Given the description of an element on the screen output the (x, y) to click on. 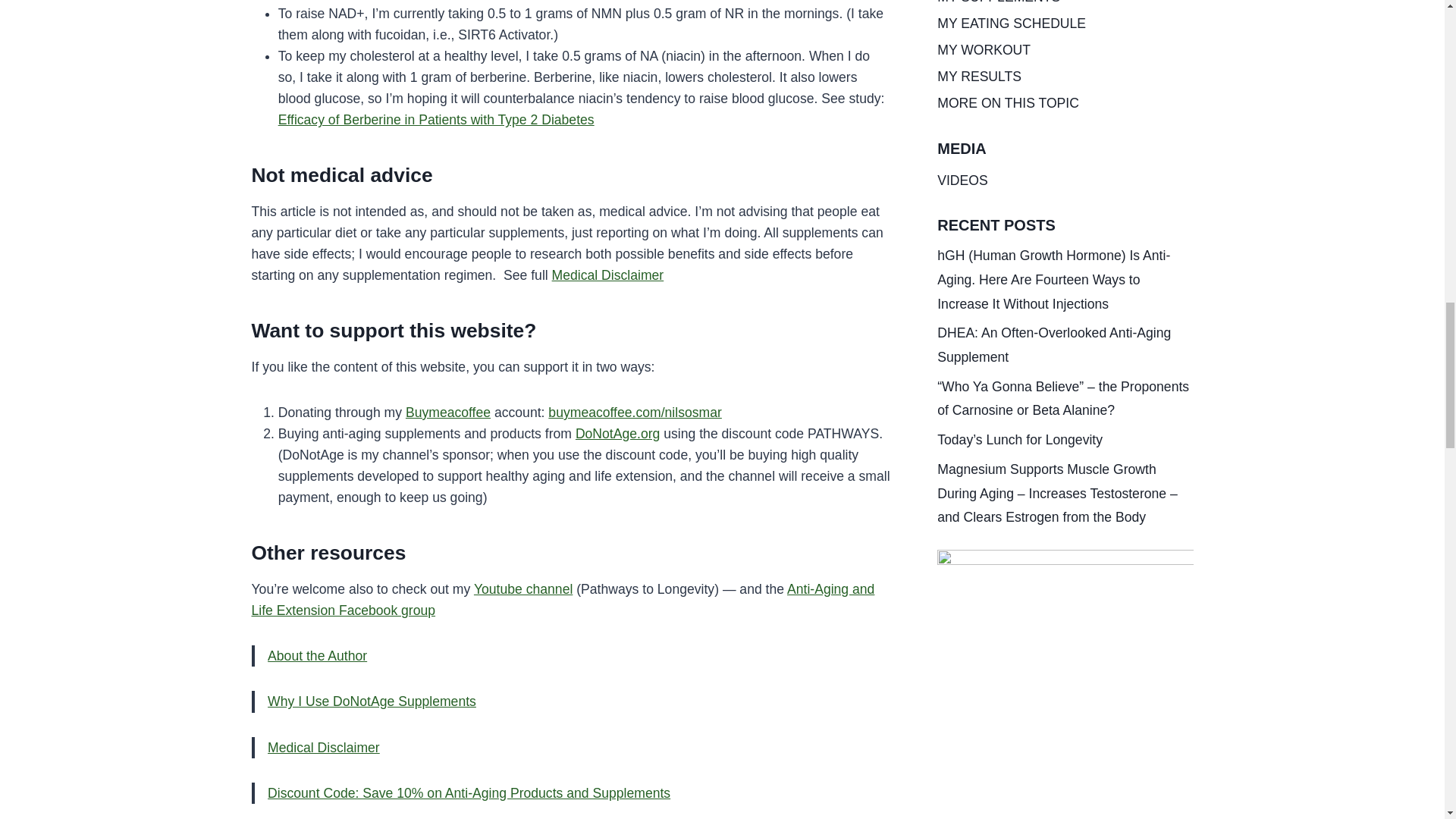
Medical Disclaimer (607, 274)
Buymeacoffee (448, 412)
Efficacy of Berberine in Patients with Type 2 Diabetes (436, 119)
